Given the description of an element on the screen output the (x, y) to click on. 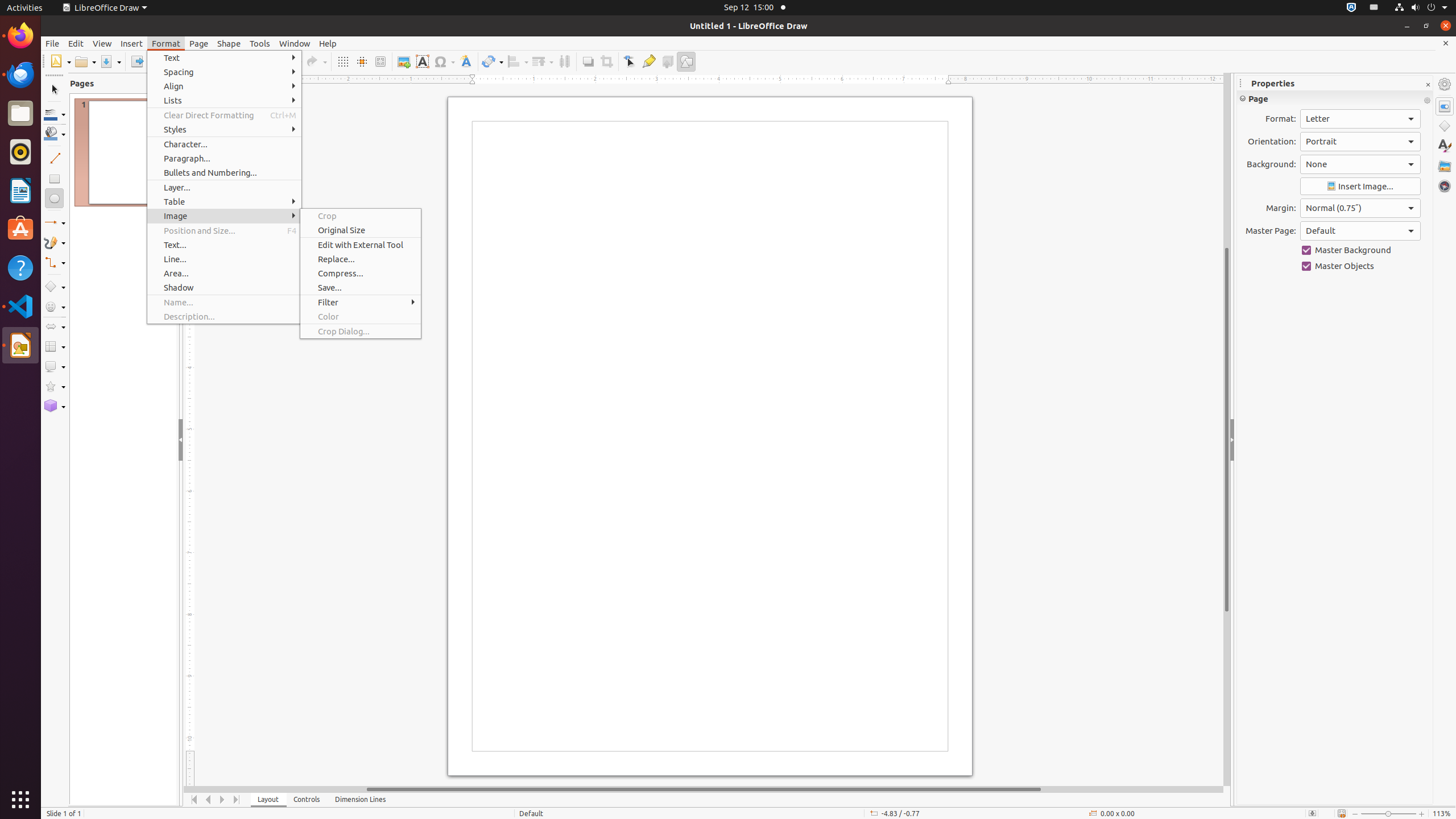
Grid Element type: toggle-button (342, 61)
Line Color Element type: push-button (54, 113)
Styles Element type: radio-button (1444, 146)
Zoom & Pan Element type: push-button (379, 61)
Tools Element type: menu (259, 43)
